Given the description of an element on the screen output the (x, y) to click on. 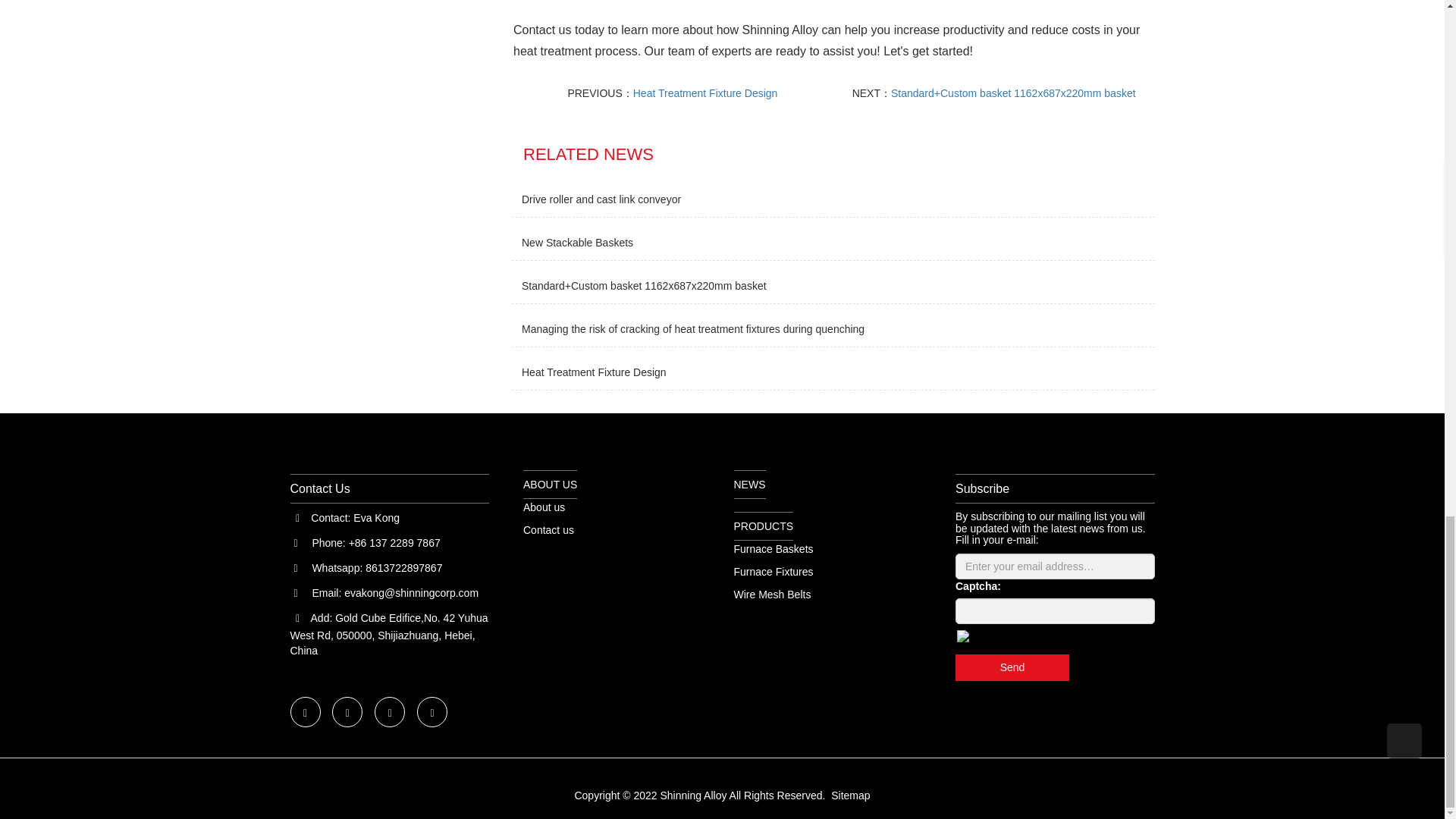
Heat Treatment Fixture Design (705, 92)
New Stackable Baskets (577, 242)
Heat Treatment Fixture Design (593, 371)
Drive roller and cast link conveyor (601, 199)
